Given the description of an element on the screen output the (x, y) to click on. 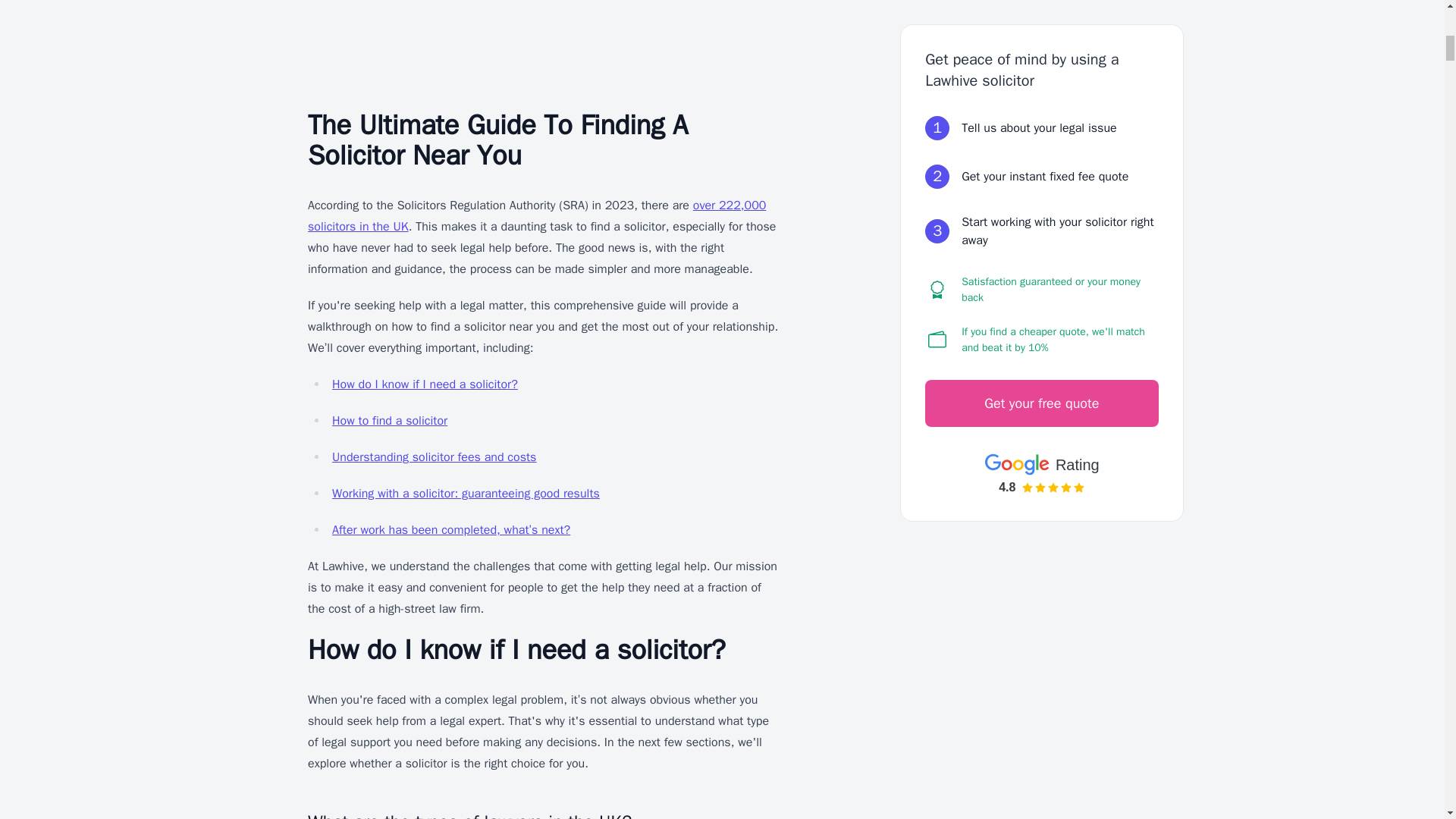
How to find a solicitor (388, 420)
How do I know if I need a solicitor? (424, 384)
Working with a solicitor: guaranteeing good results (465, 493)
over 222,000 solicitors in the UK (536, 216)
Understanding solicitor fees and costs (433, 457)
